Given the description of an element on the screen output the (x, y) to click on. 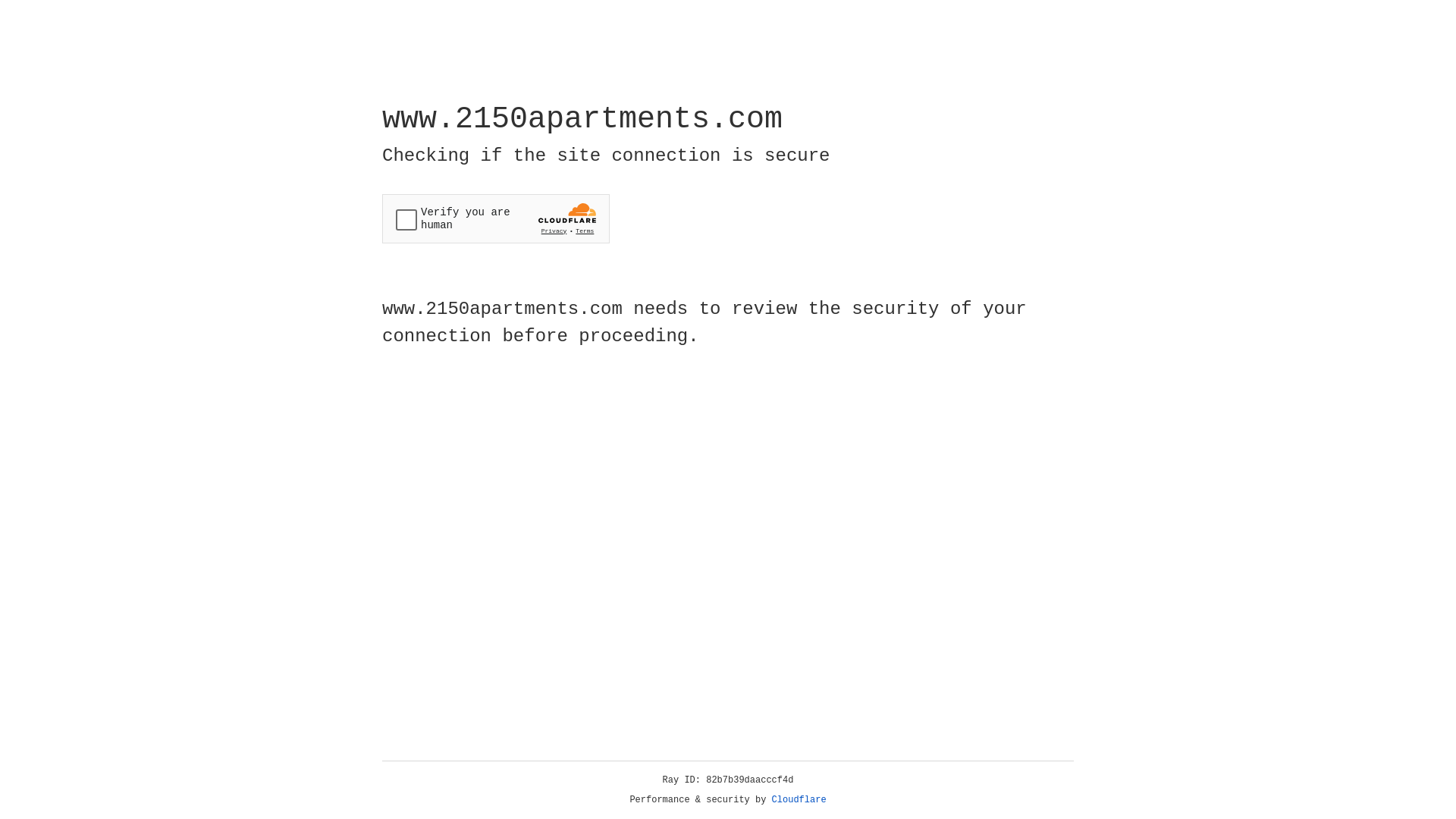
Cloudflare Element type: text (798, 799)
Widget containing a Cloudflare security challenge Element type: hover (495, 218)
